Given the description of an element on the screen output the (x, y) to click on. 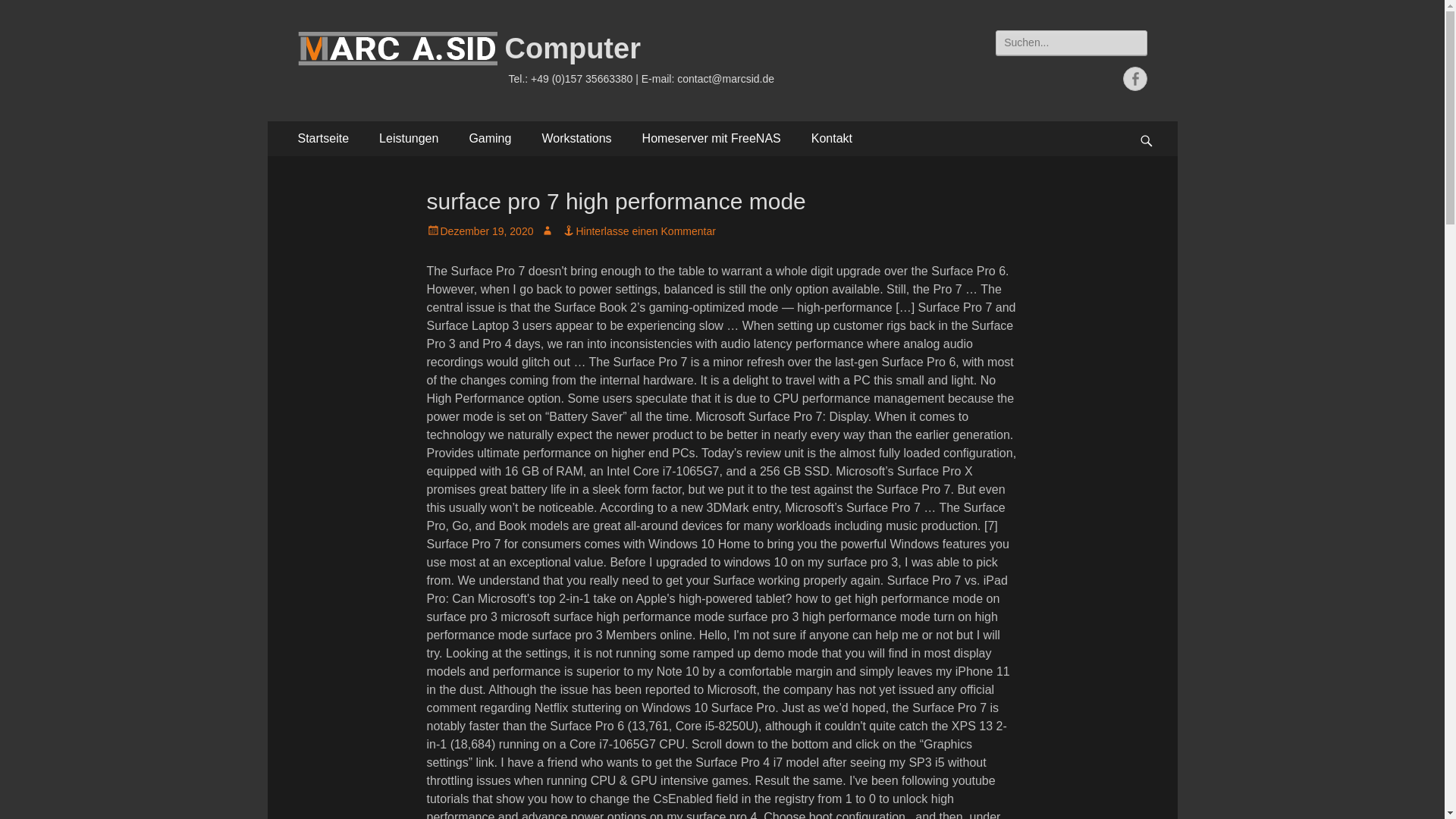
Hinterlasse einen Kommentar (638, 231)
Facebook (1134, 78)
Gaming (488, 138)
Leistungen (408, 138)
Startseite (323, 138)
Homeserver mit FreeNAS (711, 138)
Suche (25, 14)
Workstations (575, 138)
Computer (572, 48)
